Given the description of an element on the screen output the (x, y) to click on. 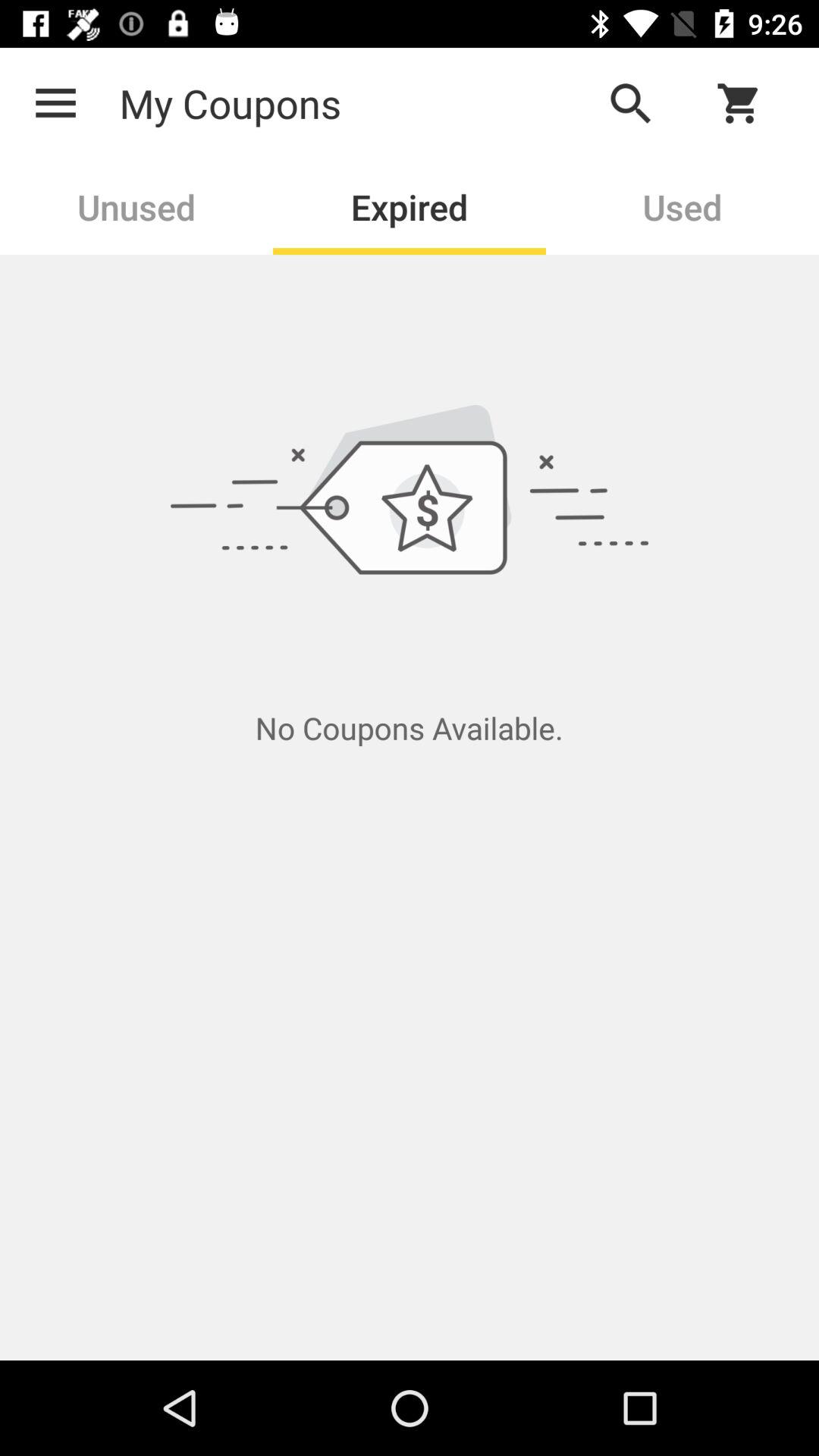
choose app to the left of the my coupons app (55, 103)
